Given the description of an element on the screen output the (x, y) to click on. 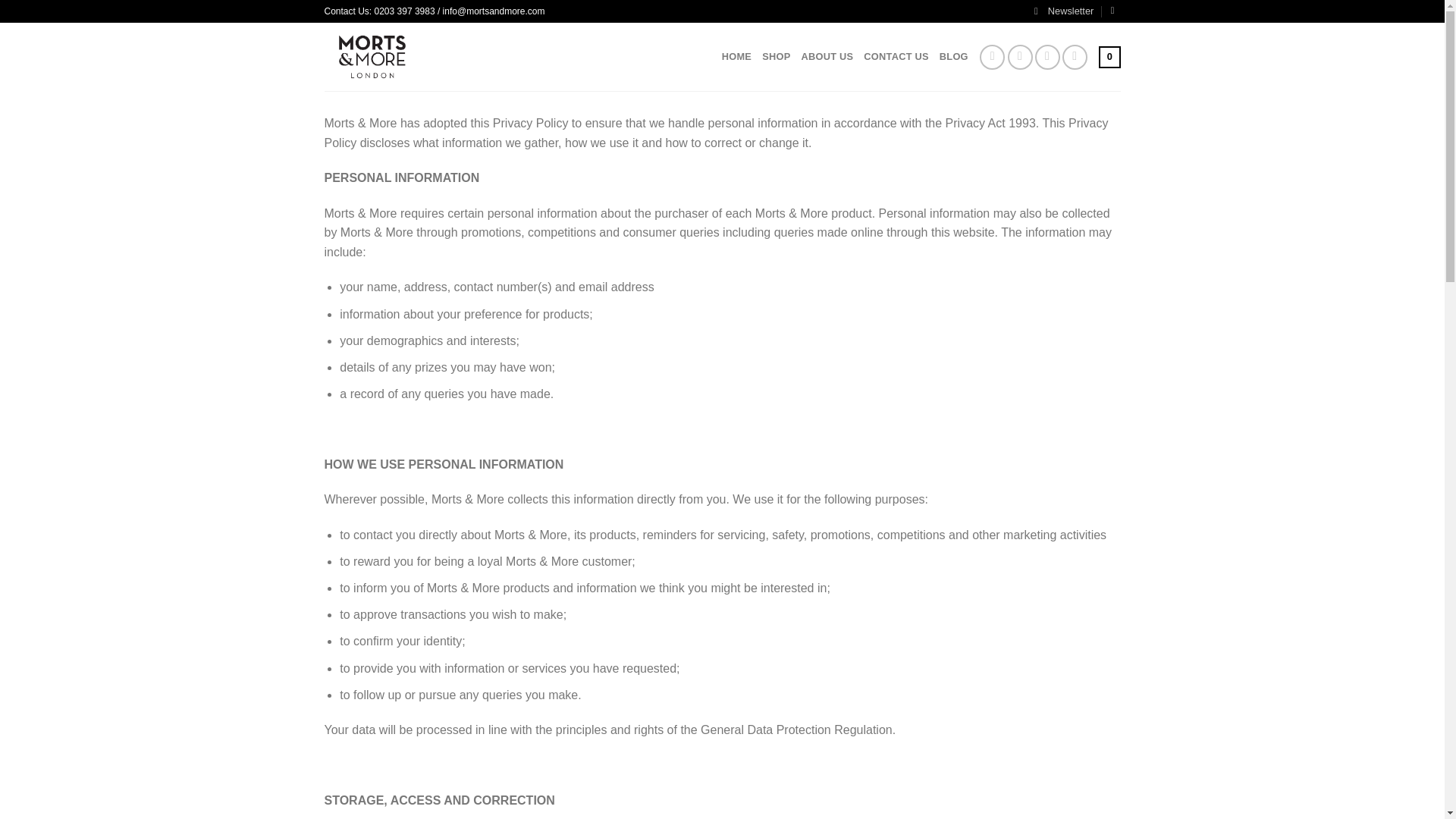
Follow on Twitter (1019, 57)
Follow on Instagram (991, 57)
Follow on YouTube (1074, 57)
Follow on LinkedIn (1047, 57)
Signup Now (1063, 11)
Morts and More - Official website of Morts and More (403, 56)
CONTACT US (895, 56)
HOME (736, 56)
SHOP (775, 56)
BLOG (953, 56)
